Given the description of an element on the screen output the (x, y) to click on. 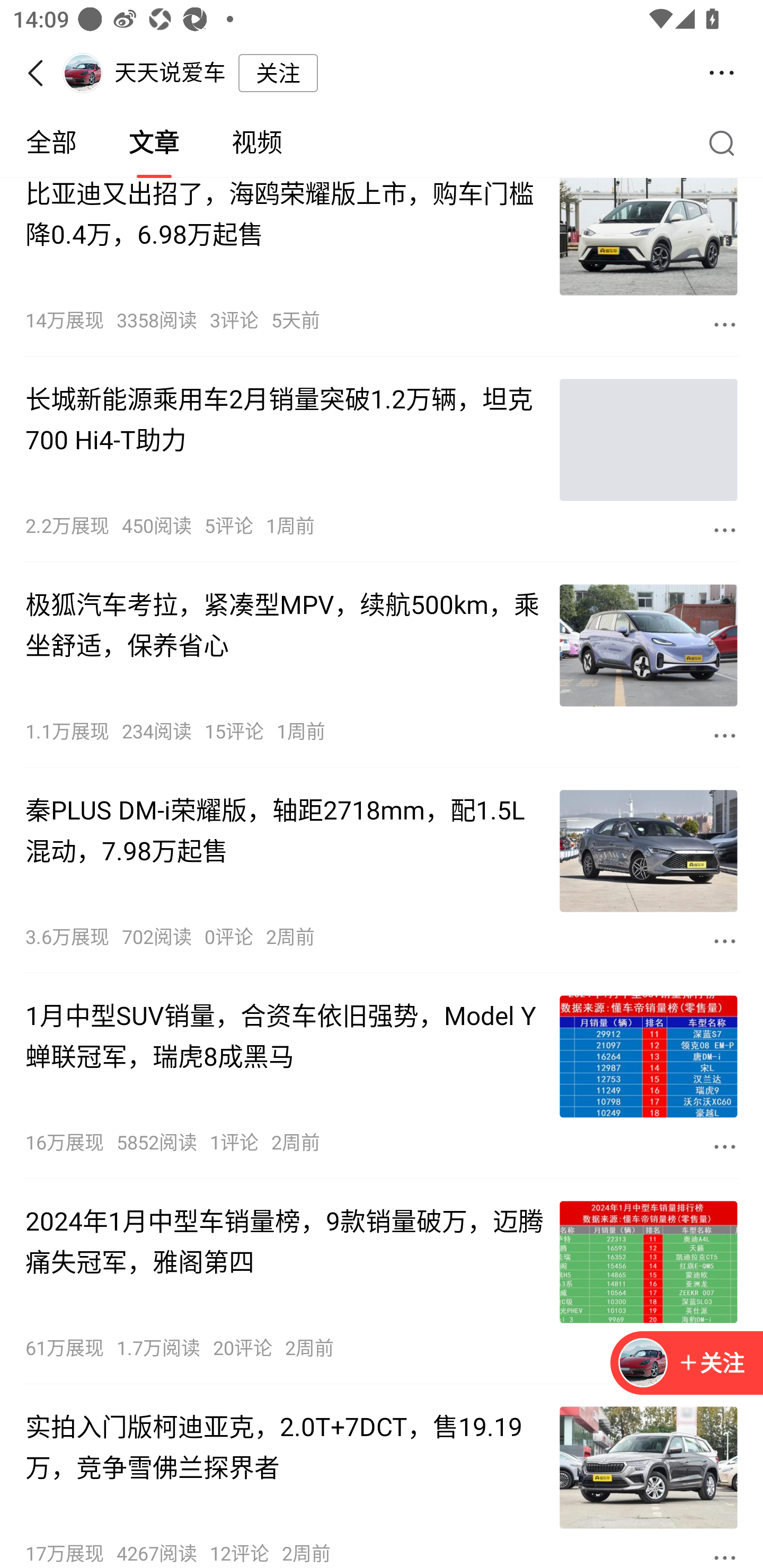
更多操作 (721, 72)
关注 (278, 72)
全部 (51, 143)
文章 (154, 143)
视频 (256, 143)
搜索 (726, 142)
更多 (724, 324)
更多 (724, 529)
更多 (724, 734)
更多 (724, 940)
更多 (724, 1145)
    关注 (686, 1363)
    关注 (711, 1363)
更多 (724, 1556)
